Given the description of an element on the screen output the (x, y) to click on. 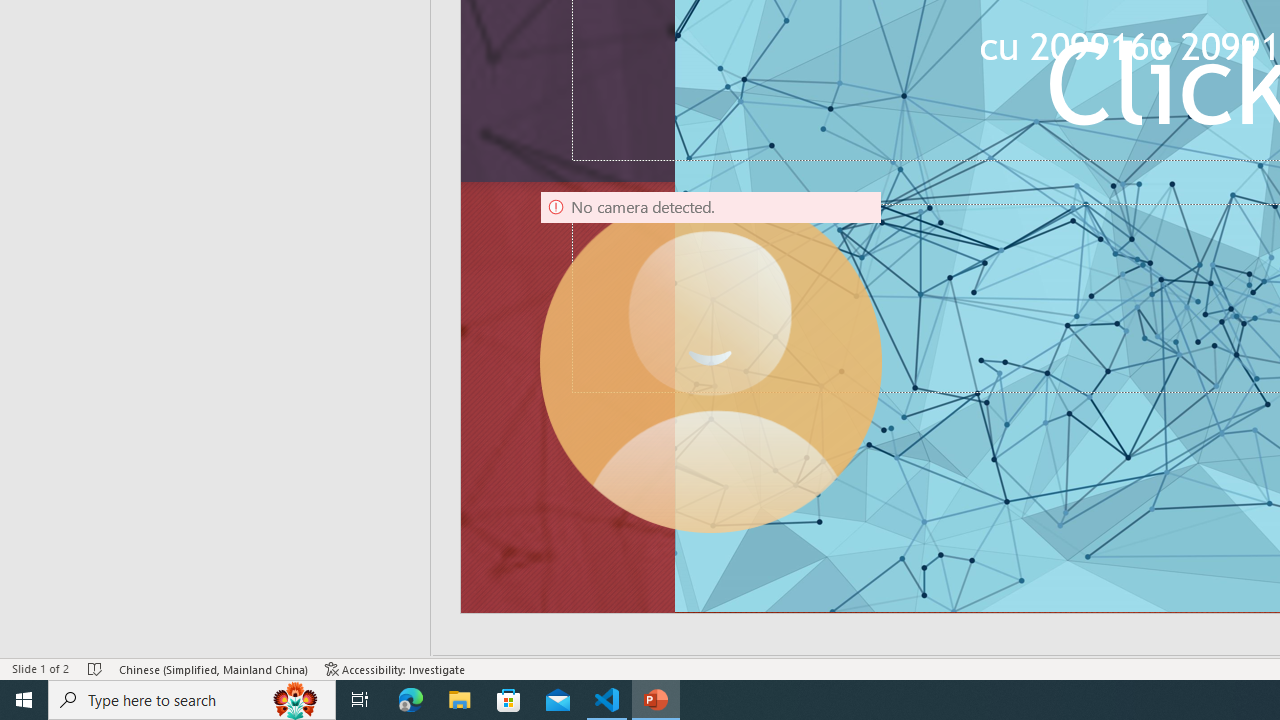
Camera 9, No camera detected. (710, 362)
